Given the description of an element on the screen output the (x, y) to click on. 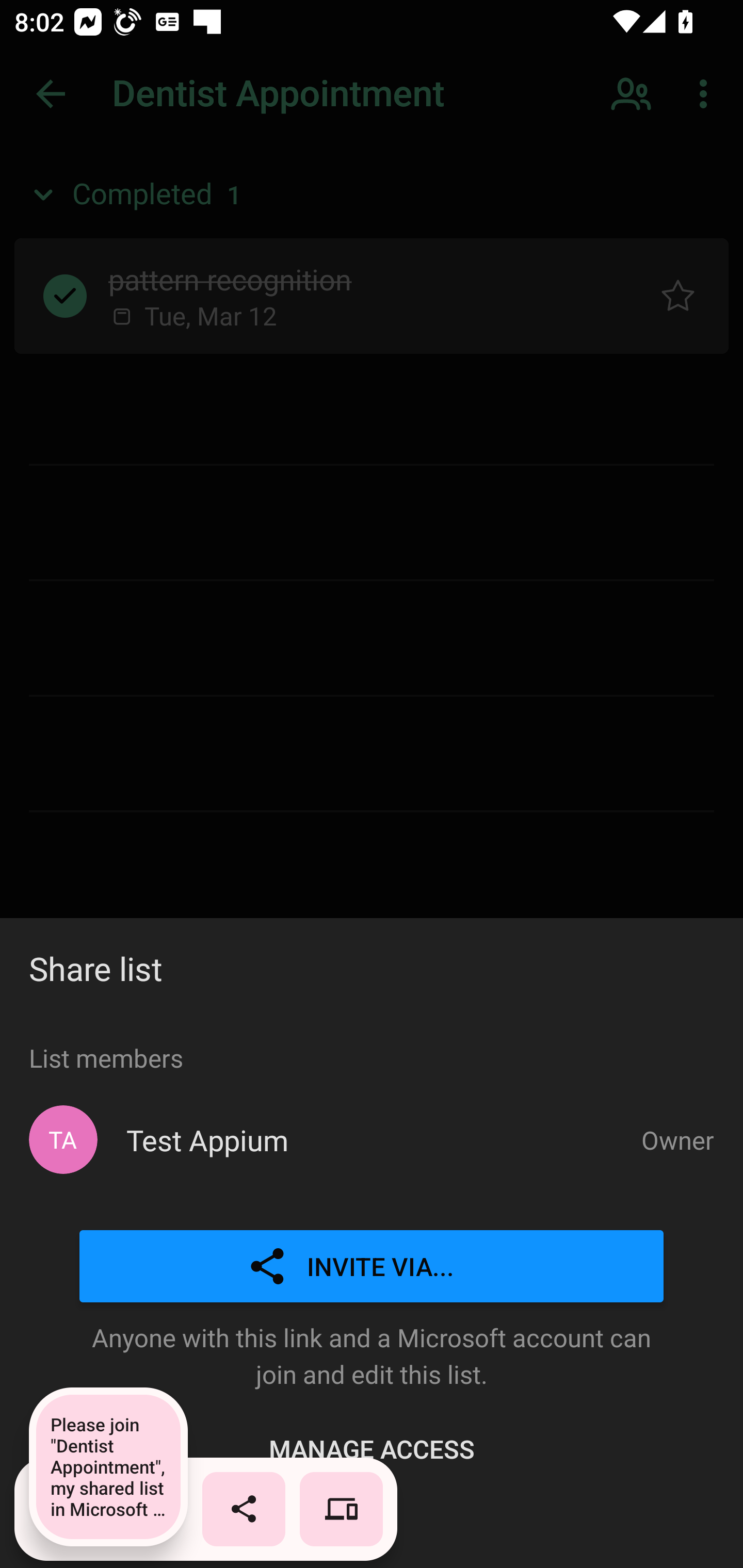
INVITE VIA... (371, 1266)
